Given the description of an element on the screen output the (x, y) to click on. 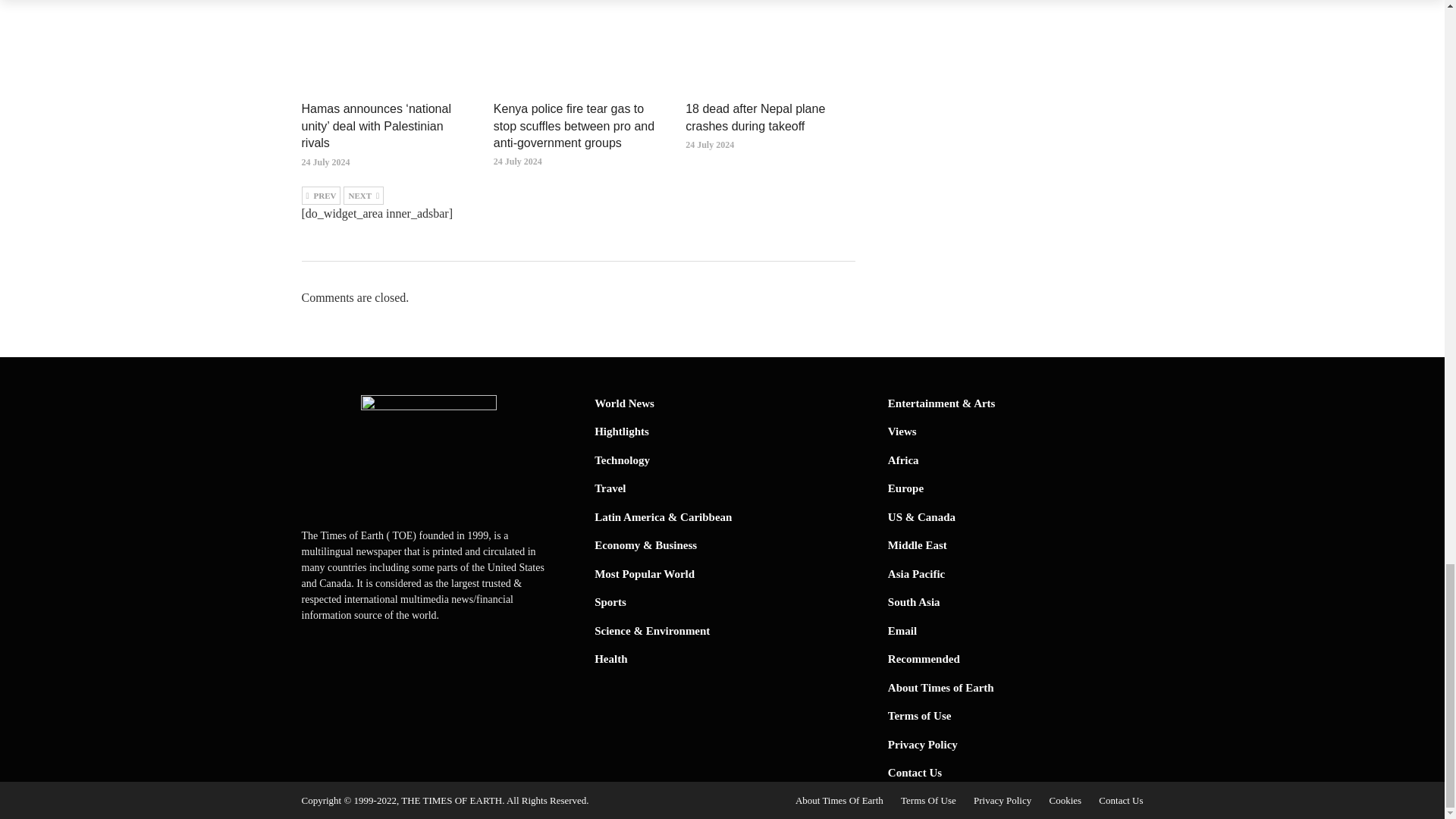
Next (363, 195)
Previous (320, 195)
